Given the description of an element on the screen output the (x, y) to click on. 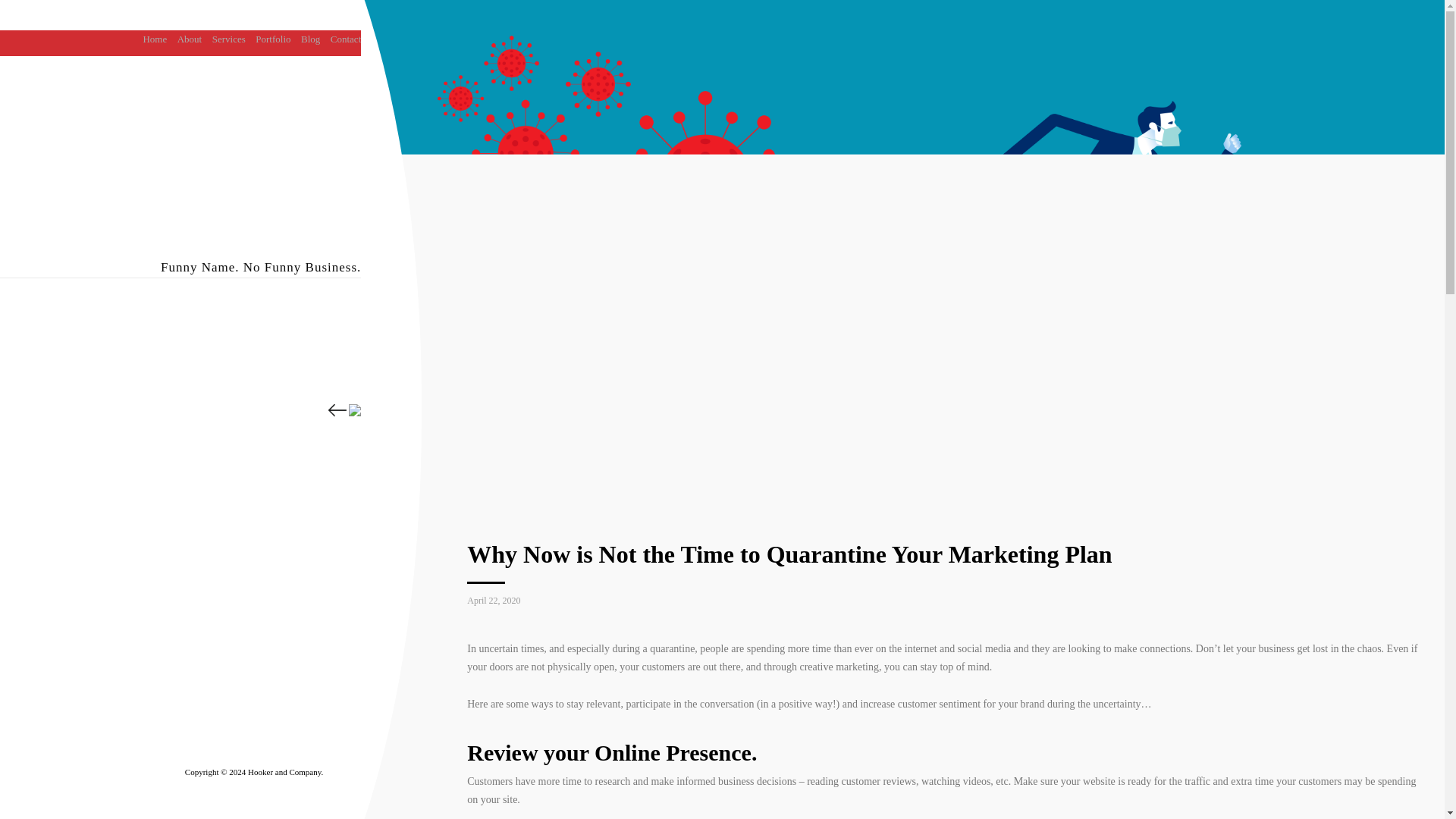
April 22, 2020 (493, 600)
Why Now is Not the Time to Quarantine Your Marketing Plan (789, 554)
Contact (345, 38)
Portfolio (272, 38)
Home (154, 38)
Services (229, 38)
Blog (310, 38)
About (189, 38)
